Given the description of an element on the screen output the (x, y) to click on. 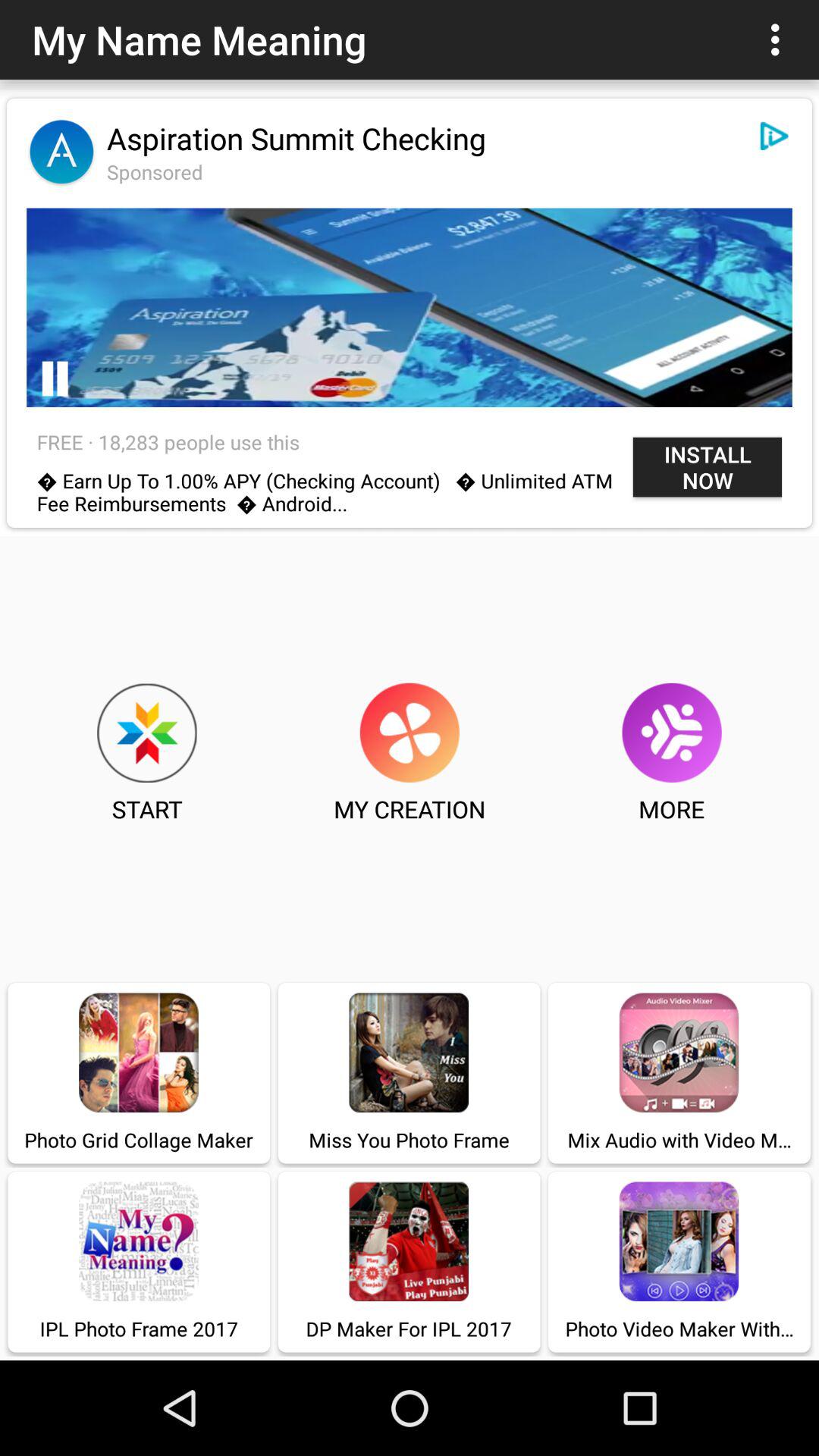
open the app below the my name meaning (296, 138)
